Given the description of an element on the screen output the (x, y) to click on. 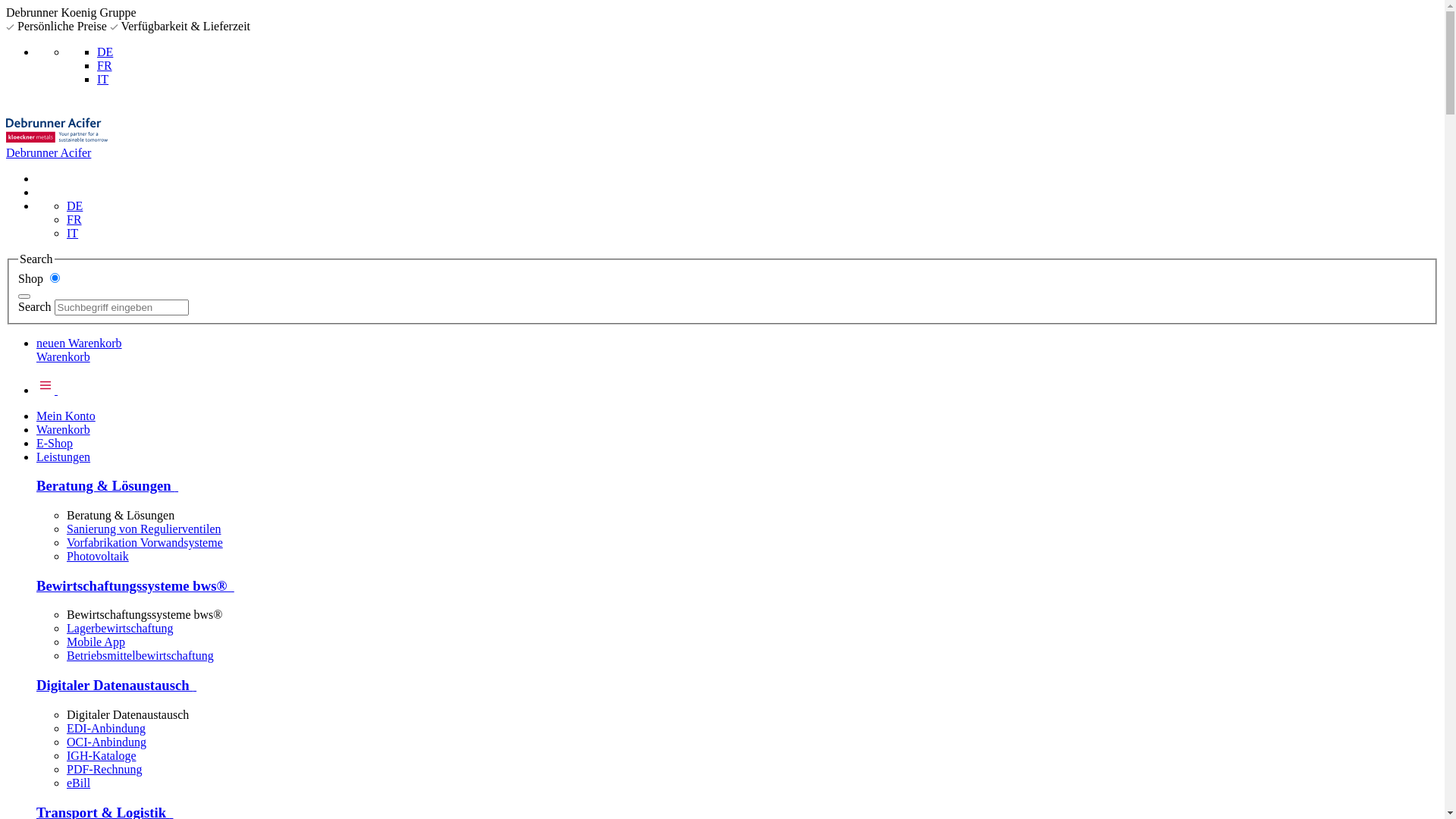
Leistungen Element type: text (63, 456)
Warenkorb Element type: text (63, 356)
PDF-Rechnung Element type: text (104, 768)
Debrunner Acifer Element type: text (56, 145)
Mein Konto Element type: text (65, 415)
OCI-Anbindung Element type: text (106, 741)
Photovoltaik Element type: text (97, 555)
Vorfabrikation Vorwandsysteme Element type: text (144, 542)
Digitaler Datenaustausch   Element type: text (116, 685)
IT Element type: text (102, 78)
Menu Element type: hover (52, 389)
Sanierung von Regulierventilen Element type: text (143, 528)
IGH-Kataloge Element type: text (101, 755)
Debrunner Acifer Element type: hover (56, 129)
DE Element type: text (104, 51)
Betriebsmittelbewirtschaftung Element type: text (139, 655)
DE Element type: text (74, 205)
Warenkorb Element type: text (63, 429)
Mobile App Element type: text (95, 641)
EDI-Anbindung Element type: text (105, 727)
Search Element type: hover (24, 296)
E-Shop Element type: text (54, 442)
Lagerbewirtschaftung Element type: text (119, 627)
eBill Element type: text (78, 782)
FR Element type: text (104, 65)
neuen Warenkorb Element type: text (79, 342)
IT Element type: text (72, 232)
FR Element type: text (73, 219)
